Given the description of an element on the screen output the (x, y) to click on. 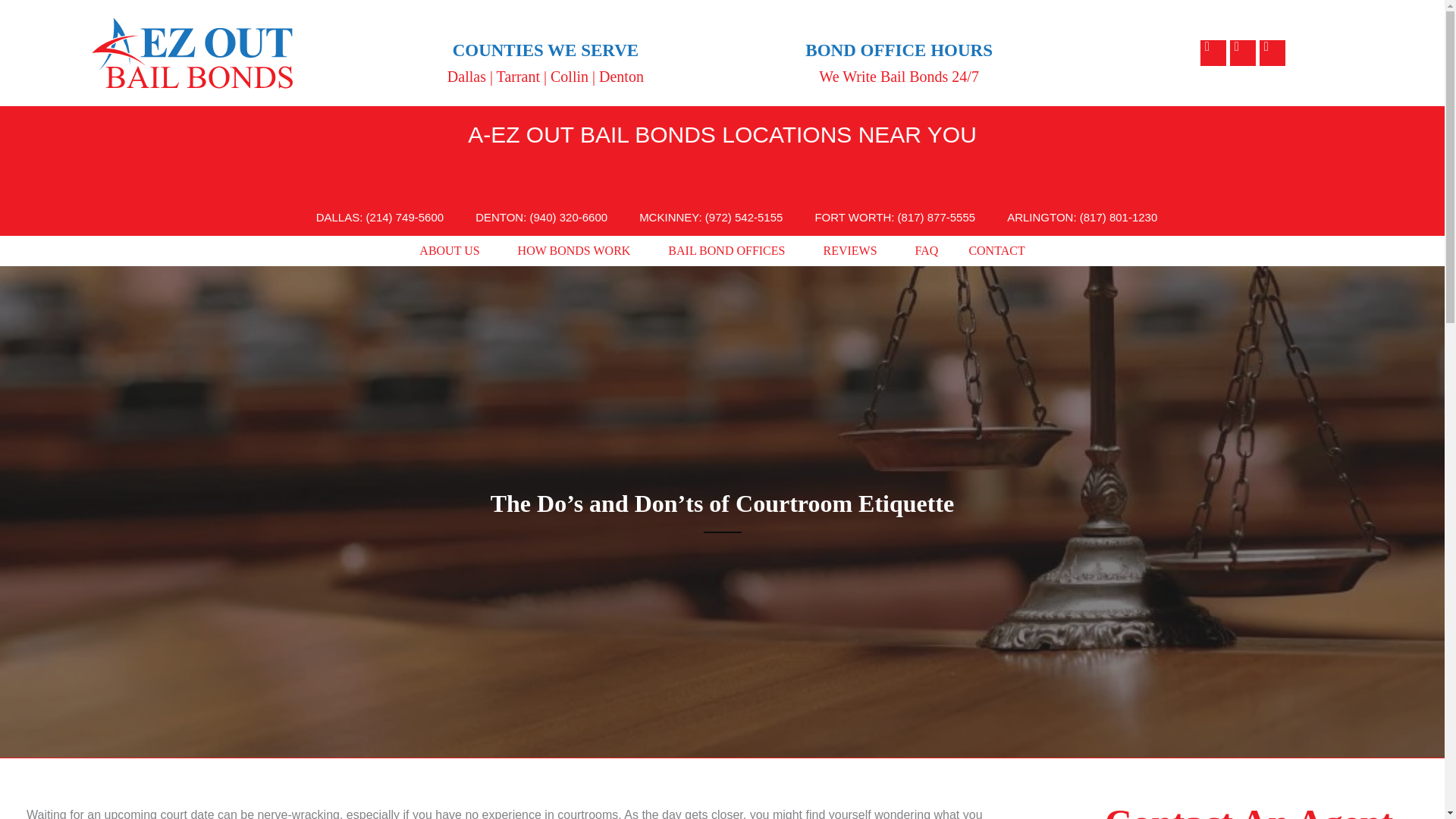
FAQ (926, 250)
Facebook (1212, 53)
REVIEWS (853, 250)
Instagram (1272, 53)
BAIL BOND OFFICES (730, 250)
Twitter (1242, 53)
HOW BONDS WORK (577, 250)
ABOUT US (453, 250)
CONTACT (996, 250)
